Given the description of an element on the screen output the (x, y) to click on. 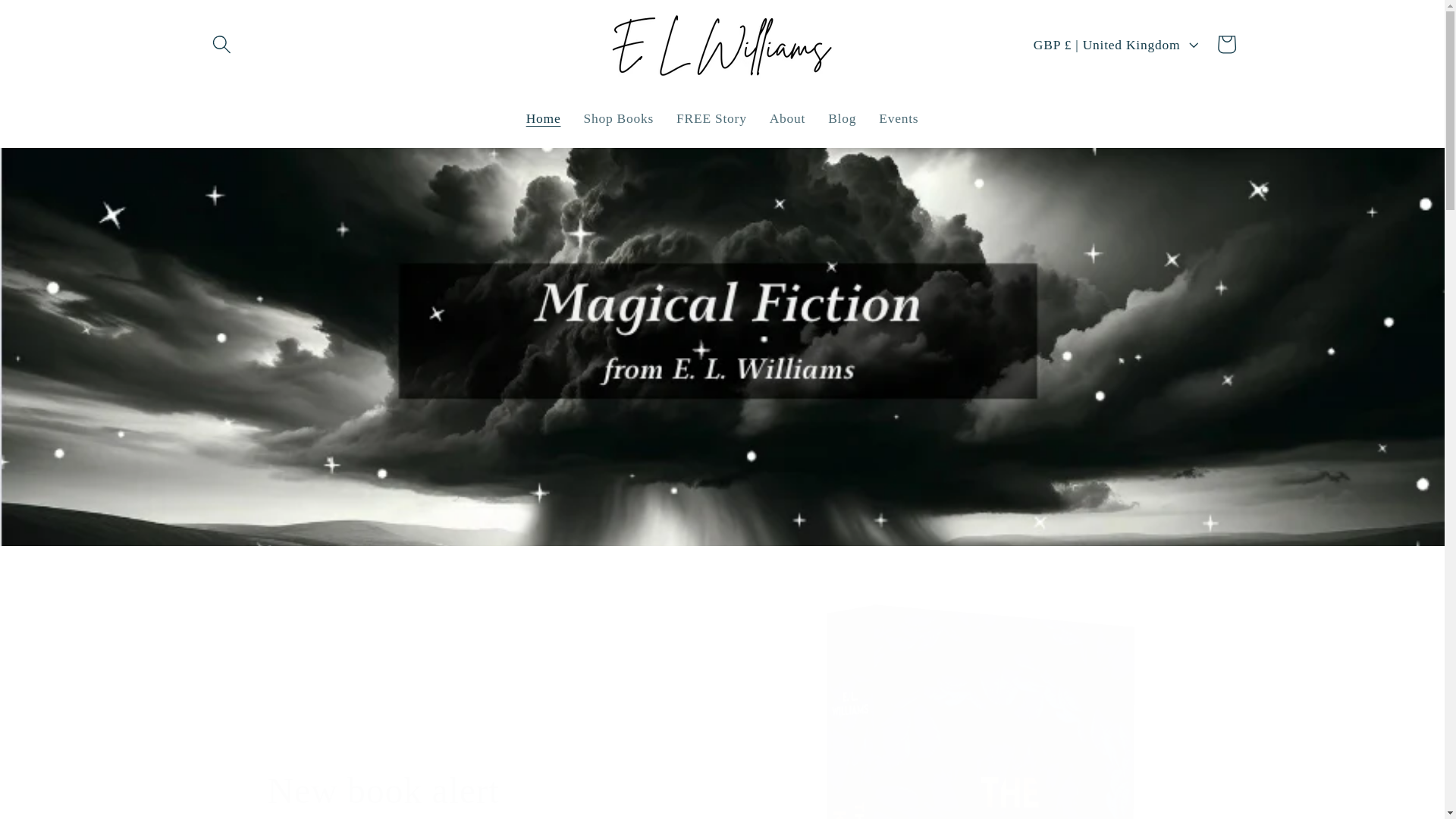
Events (898, 118)
Home (543, 118)
Shop Books (618, 118)
About (787, 118)
Cart (1226, 44)
Blog (841, 118)
Skip to content (58, 22)
FREE Story (711, 118)
